Given the description of an element on the screen output the (x, y) to click on. 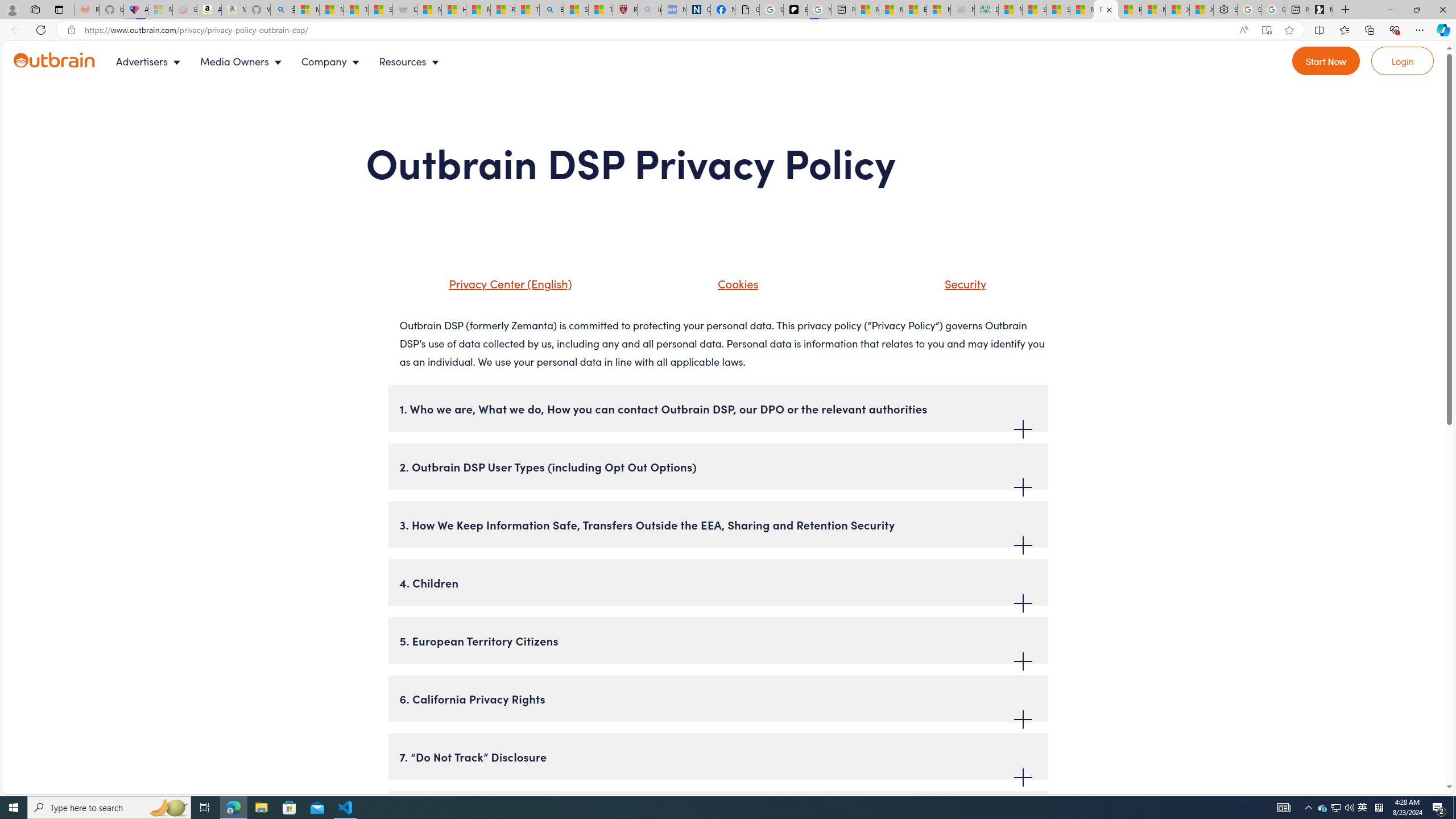
5. European Territory Citizens (717, 639)
Security (951, 287)
Main Navigation (287, 61)
Robert H. Shmerling, MD - Harvard Health (625, 9)
Advertisers (151, 61)
6. California Privacy Rights (717, 697)
Entertainment - MSN (914, 9)
